Given the description of an element on the screen output the (x, y) to click on. 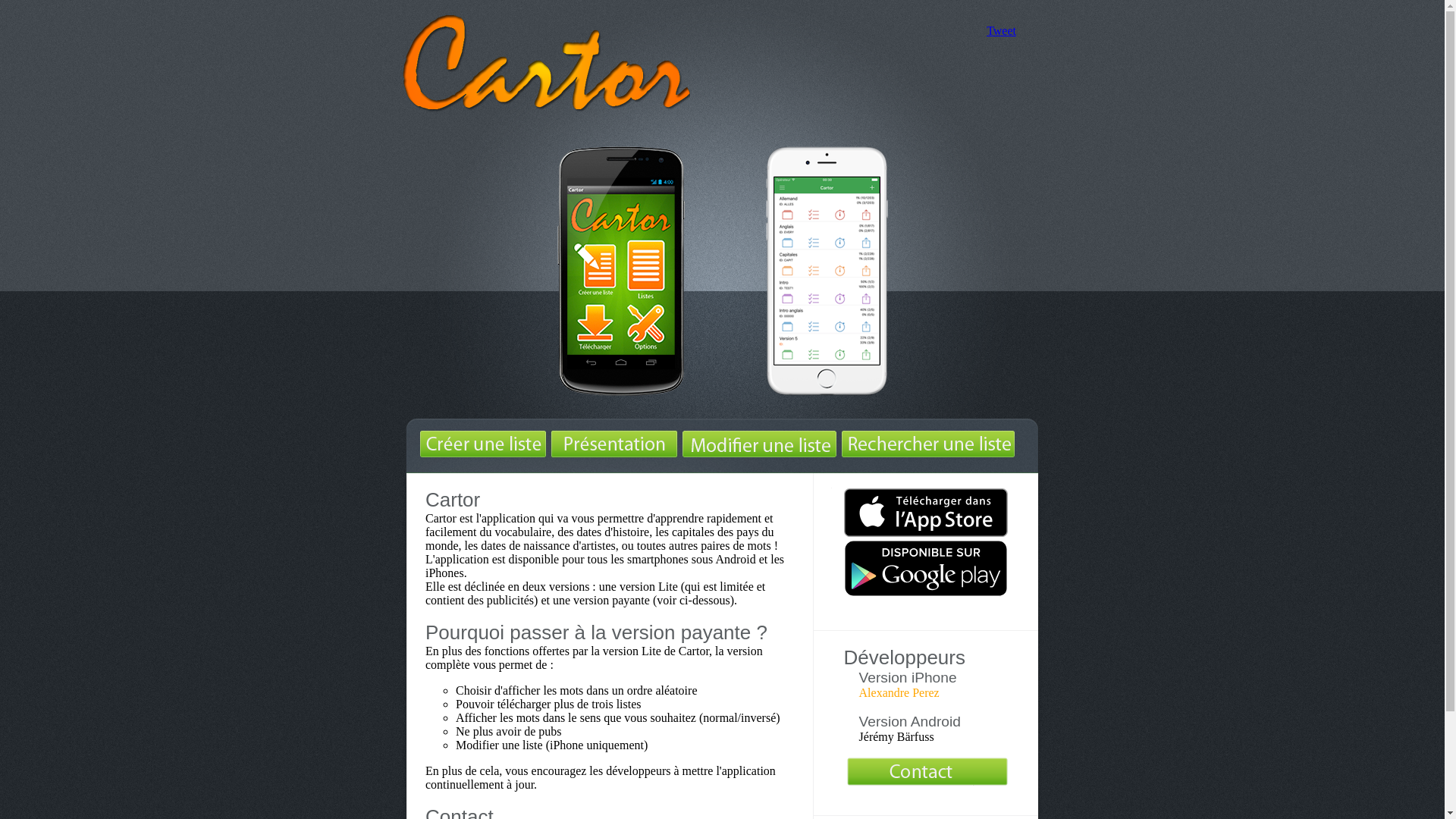
Tweet Element type: text (1001, 30)
Alexandre Perez Element type: text (899, 692)
